Given the description of an element on the screen output the (x, y) to click on. 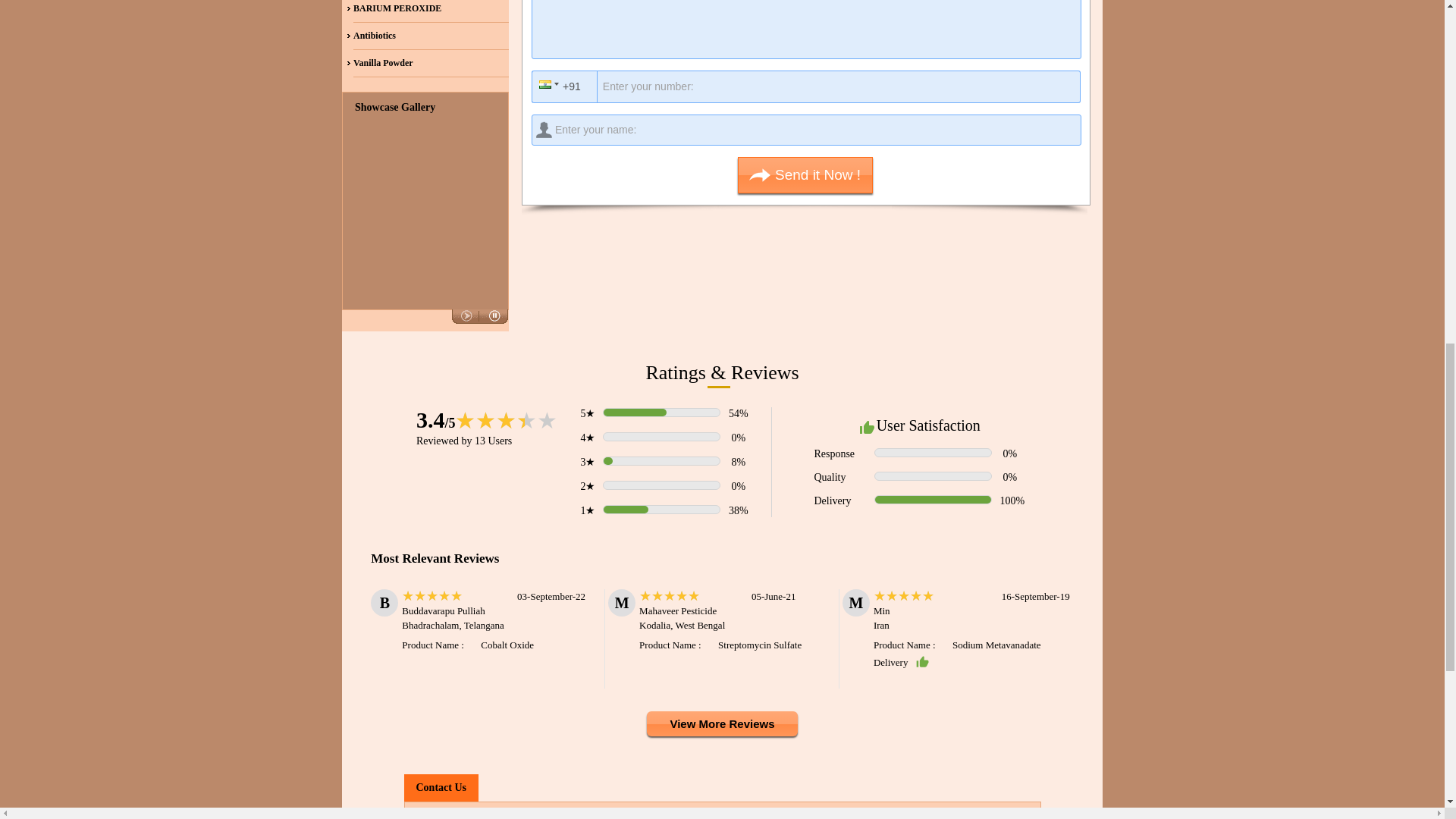
Send it Now ! (805, 175)
Enter your number: (810, 86)
3.4 out of 5 Votes (435, 419)
Send it Now ! (805, 175)
Enter your name: (806, 129)
